Given the description of an element on the screen output the (x, y) to click on. 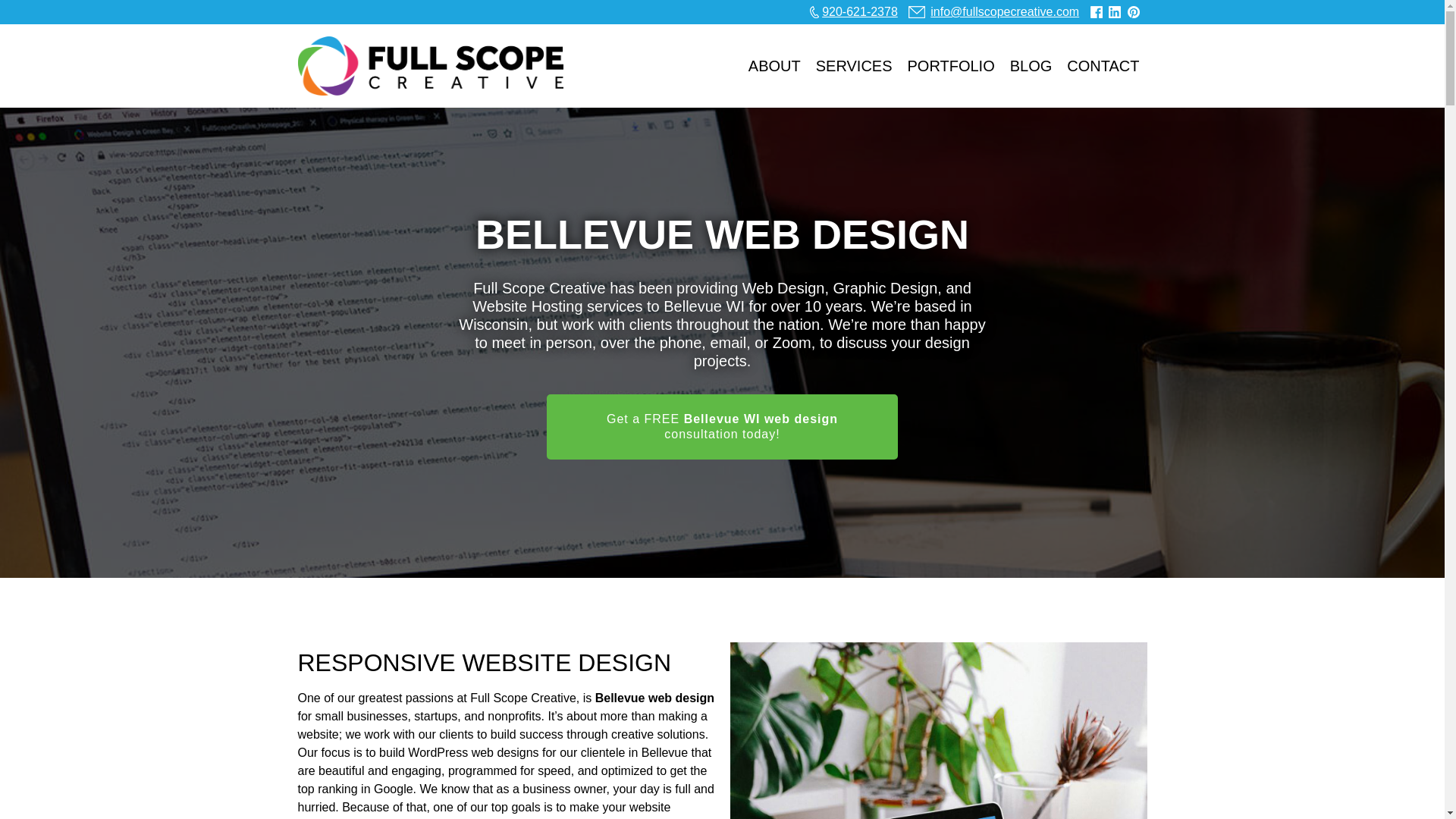
920-621-2378 (853, 11)
Get a FREE Bellevue WI web design consultation today! (722, 426)
Green Bay Website design and hosing Full Scope Creative (429, 65)
PORTFOLIO (951, 65)
SERVICES (853, 65)
CONTACT (1103, 65)
ABOUT (774, 65)
BLOG (1031, 65)
